Given the description of an element on the screen output the (x, y) to click on. 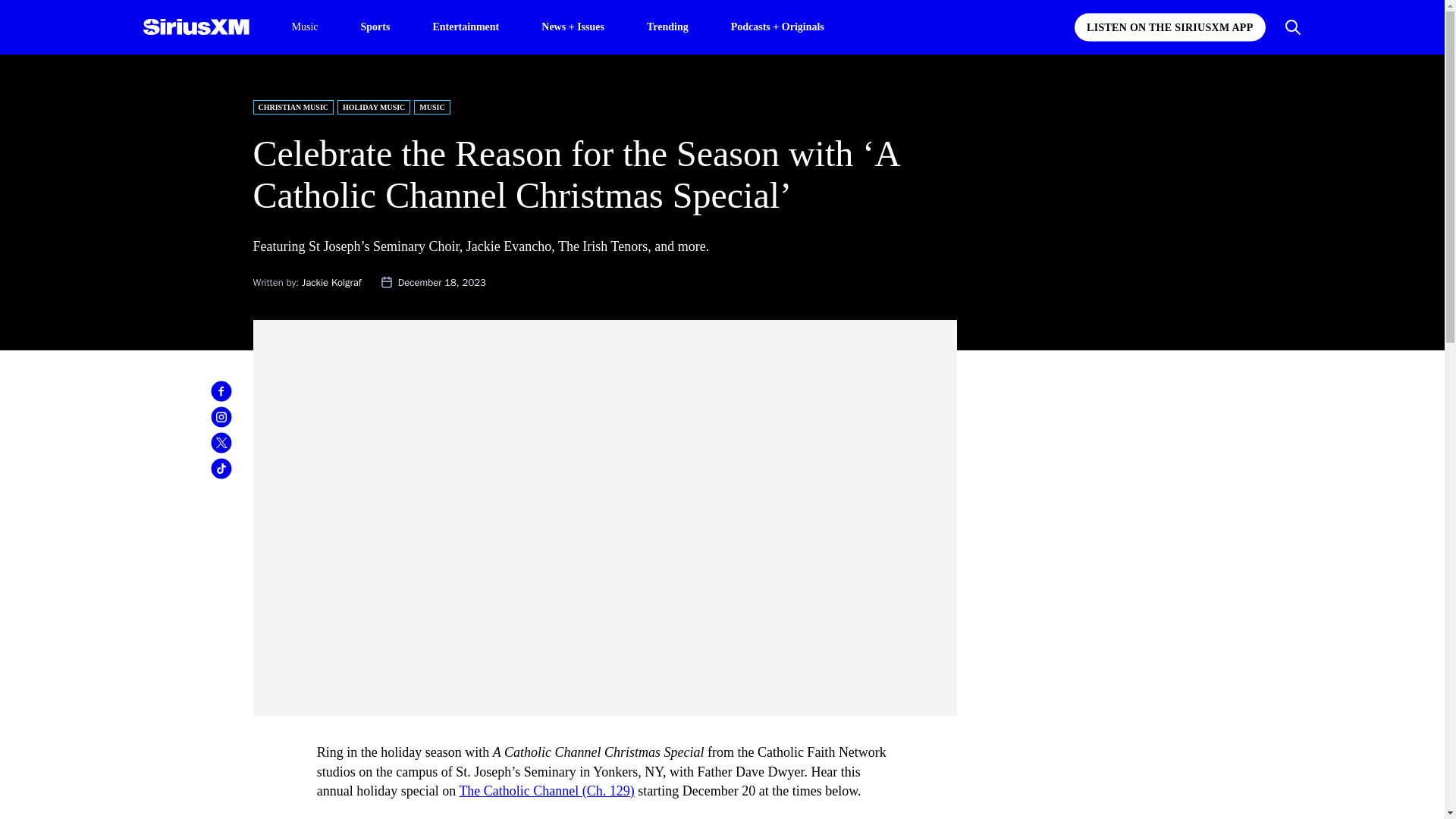
CHRISTIAN MUSIC (293, 106)
Entertainment (465, 26)
Trending (667, 26)
HOLIDAY MUSIC (373, 106)
MUSIC (431, 106)
Jackie Kolgraf (331, 282)
LISTEN ON THE SIRIUSXM APP (1169, 27)
Music (304, 26)
Sports (375, 26)
